Given the description of an element on the screen output the (x, y) to click on. 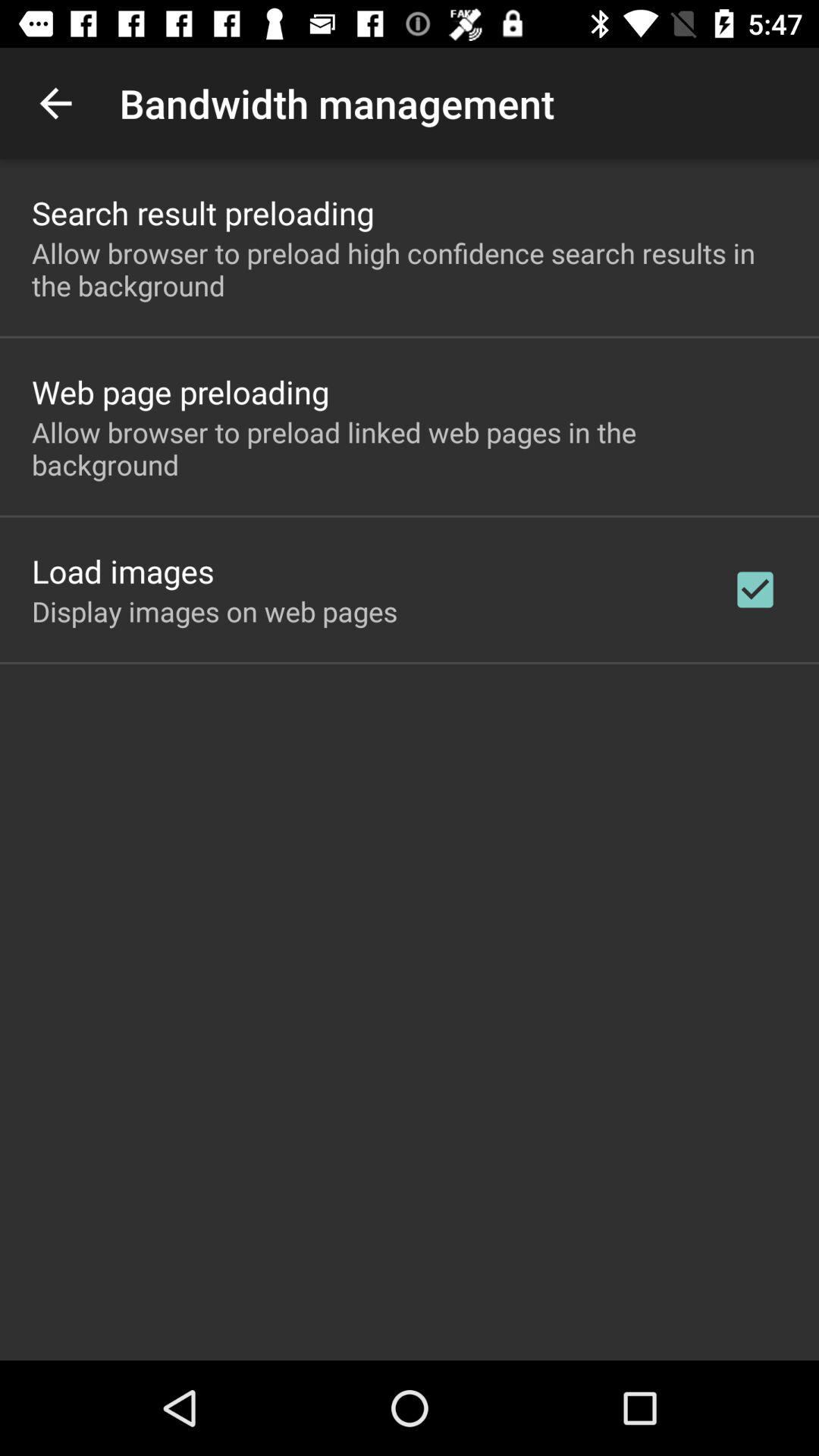
flip until the search result preloading item (202, 212)
